Given the description of an element on the screen output the (x, y) to click on. 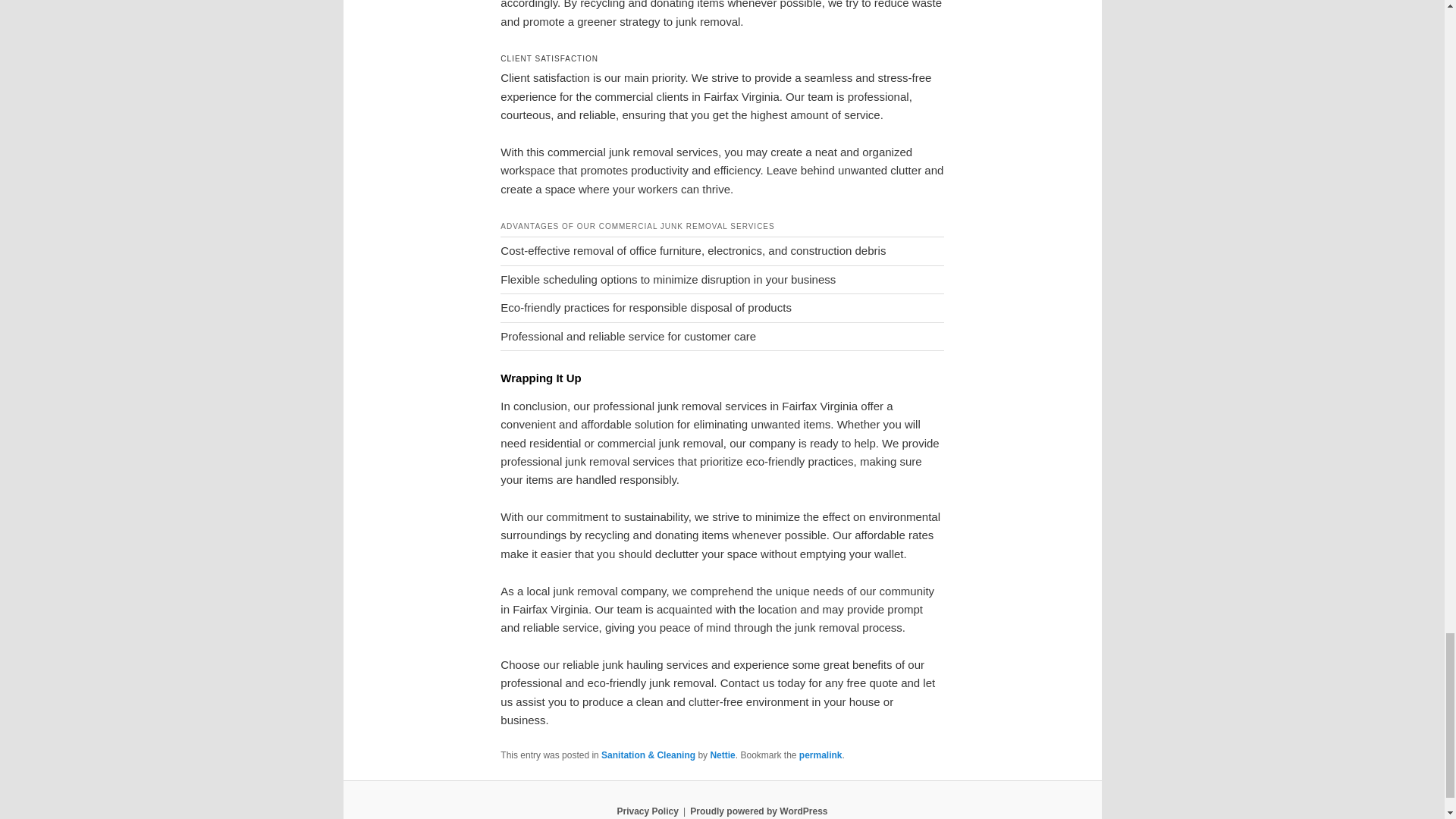
Semantic Personal Publishing Platform (758, 810)
Privacy Policy (646, 810)
permalink (821, 755)
Permalink to Effortless Haul Away Service in Fairfax VA (821, 755)
Proudly powered by WordPress (758, 810)
Nettie (722, 755)
